Given the description of an element on the screen output the (x, y) to click on. 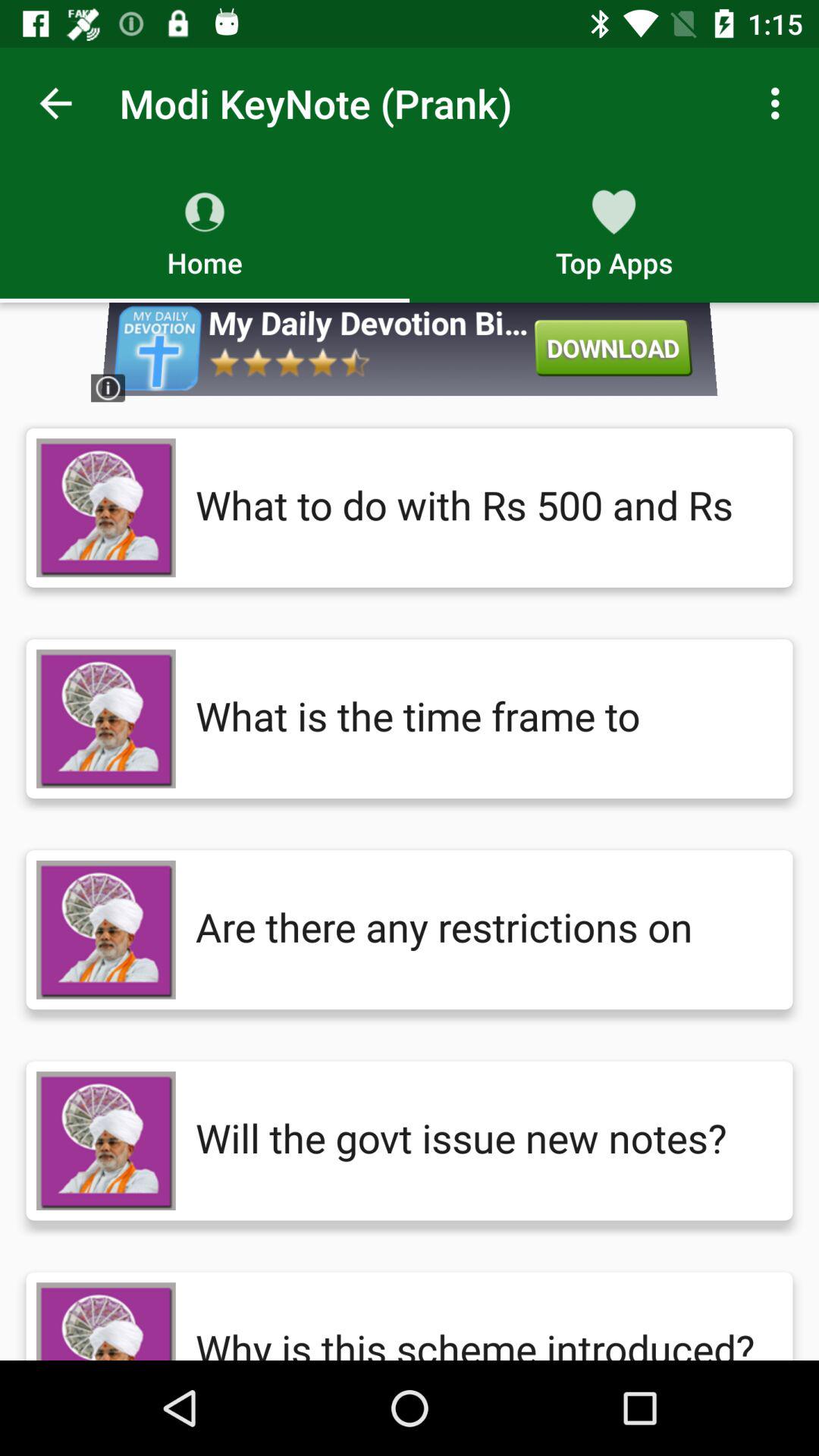
swipe until are there any item (478, 929)
